Given the description of an element on the screen output the (x, y) to click on. 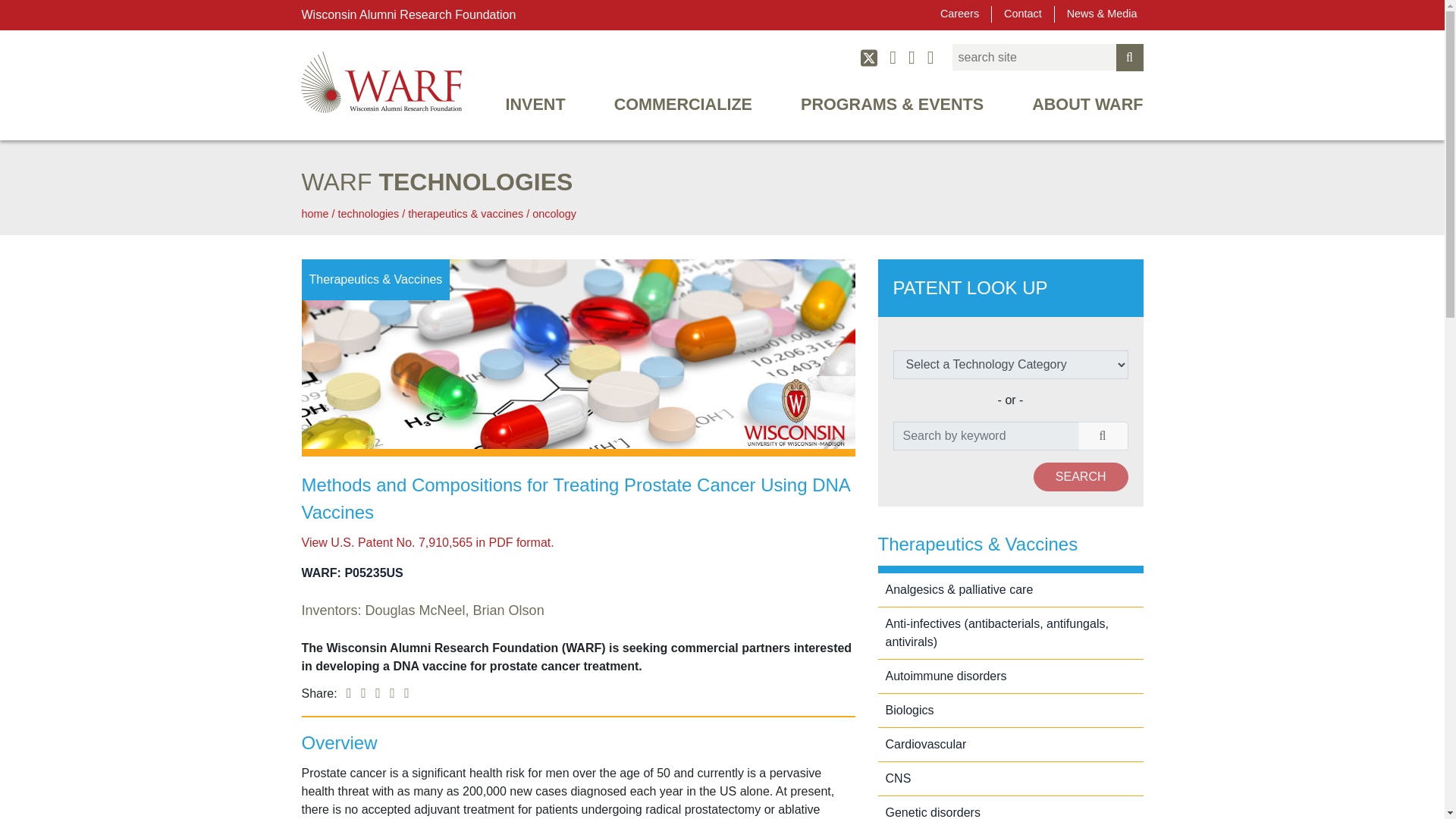
WARF (380, 82)
COMMERCIALIZE (682, 110)
Careers (959, 13)
INVENT (534, 110)
Contact (1022, 13)
Careers (959, 13)
WARF (380, 82)
Twitter (868, 57)
ABOUT WARF (1074, 110)
Submit Search (1129, 57)
